Given the description of an element on the screen output the (x, y) to click on. 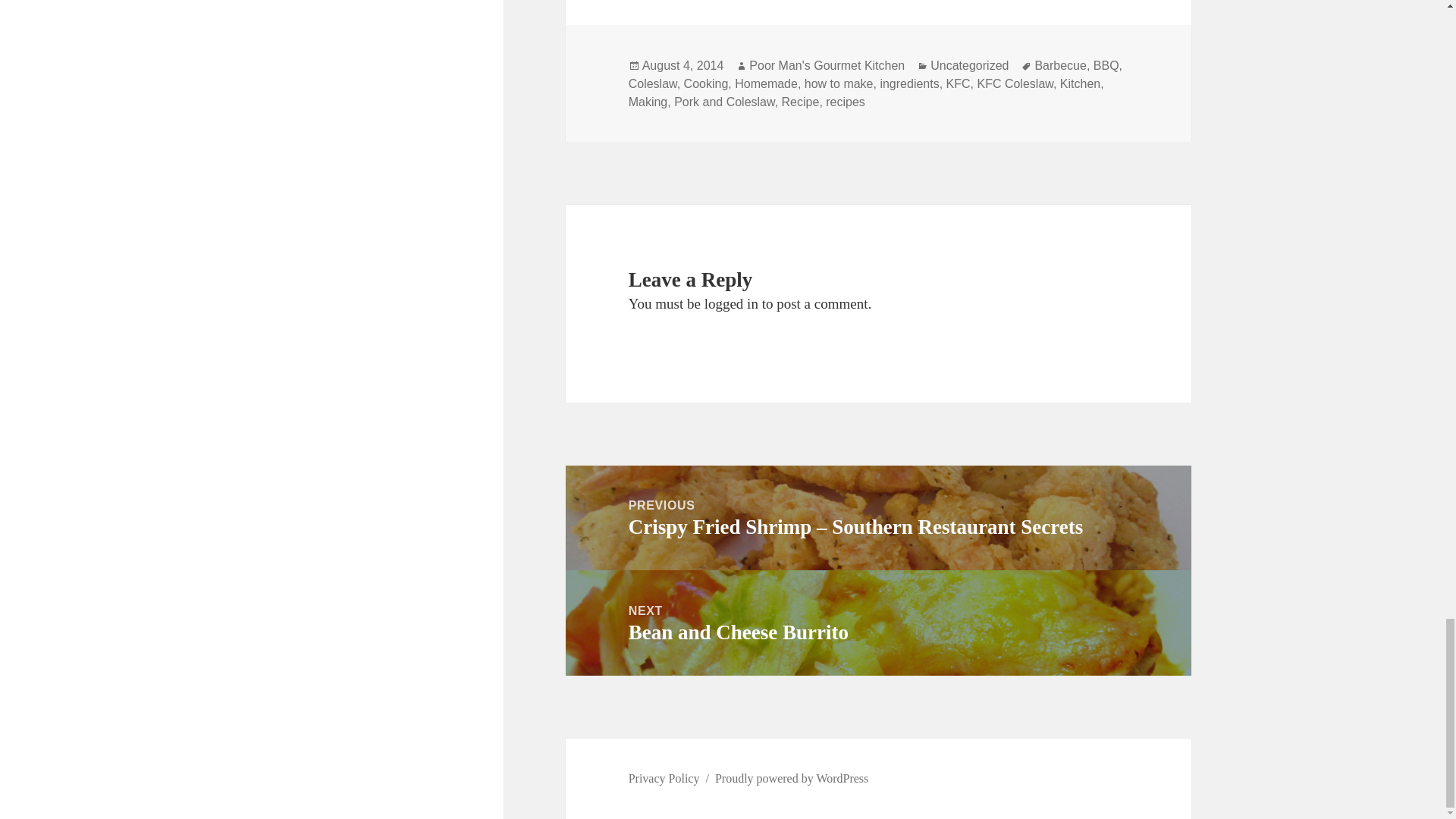
Pork and Coleslaw (724, 101)
Homemade (766, 83)
KFC (958, 83)
Barbecue (1059, 65)
Poor Man's Gourmet Kitchen (826, 65)
KFC Coleslaw (1014, 83)
Making (648, 101)
how to make (839, 83)
ingredients (909, 83)
recipes (844, 101)
Cooking (706, 83)
logged in (731, 303)
Recipe (800, 101)
August 4, 2014 (682, 65)
Coleslaw (652, 83)
